Given the description of an element on the screen output the (x, y) to click on. 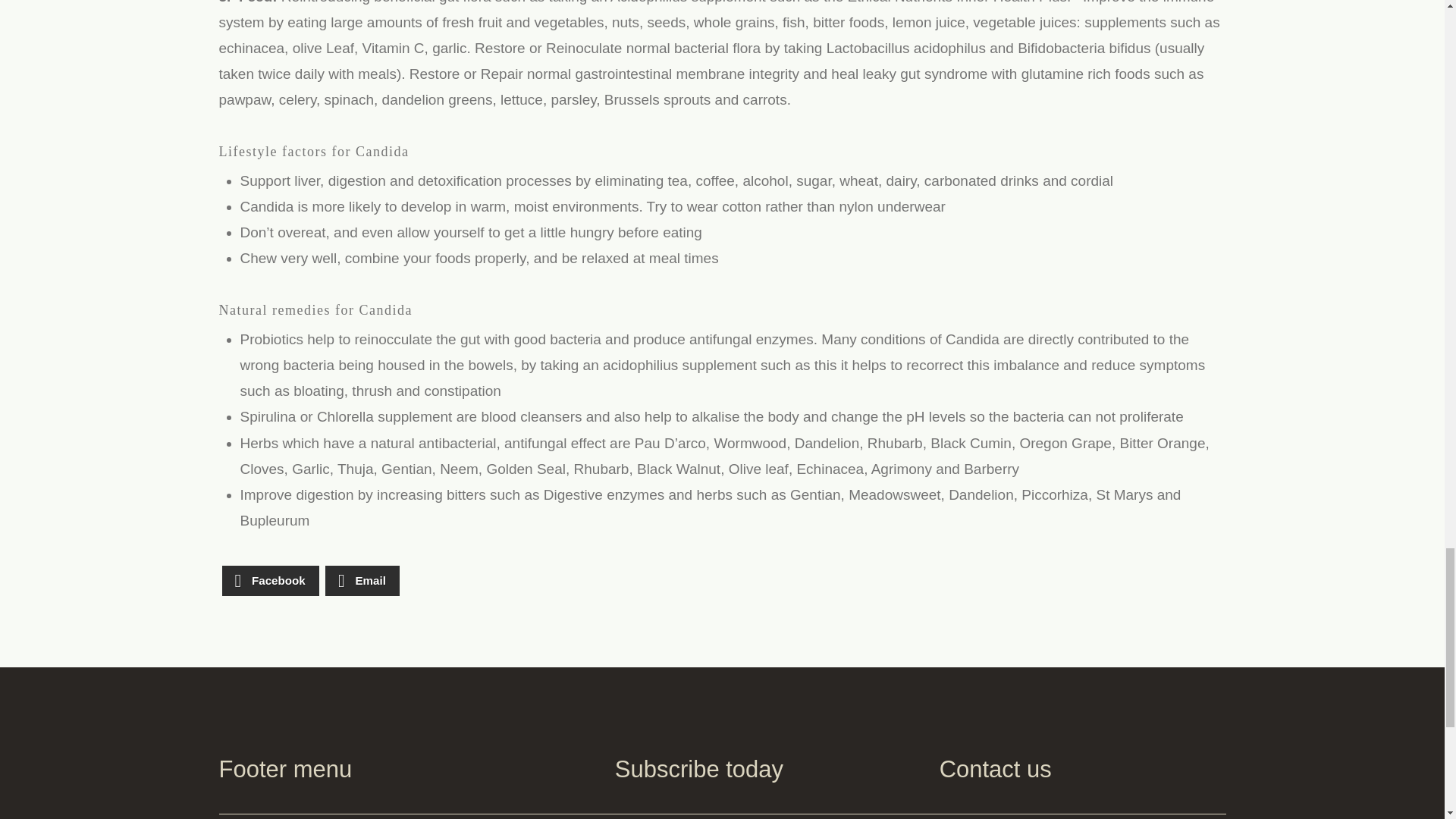
Share this article on Facebook (269, 580)
Facebook (269, 580)
Email (361, 580)
